Given the description of an element on the screen output the (x, y) to click on. 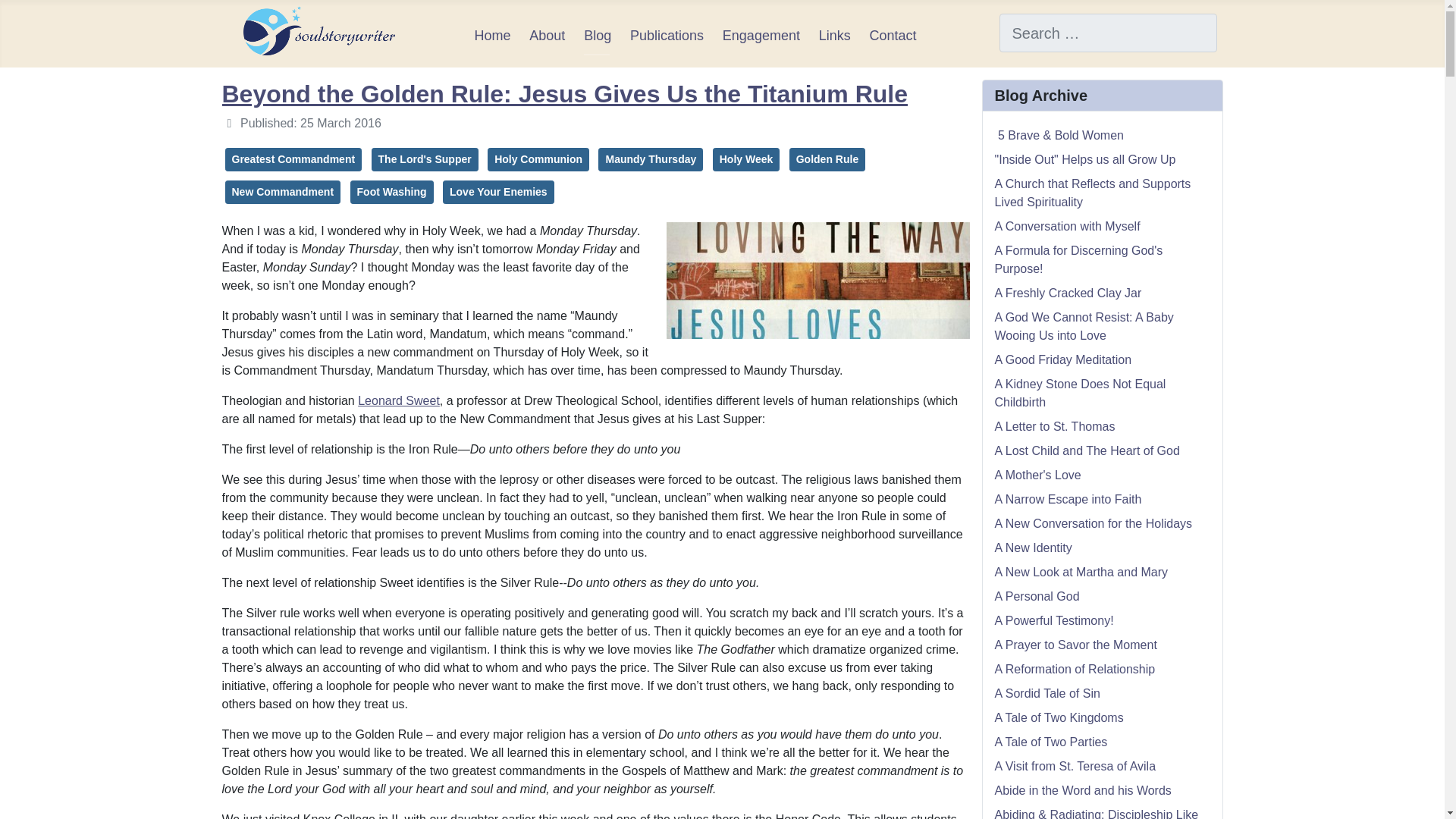
About (546, 35)
Maundy Thursday (650, 159)
Leonard Sweet (398, 400)
Holy Week (746, 159)
New Commandment (282, 191)
Links (834, 35)
Foot Washing (391, 191)
Contact (893, 35)
Holy Communion (538, 159)
The Lord's Supper (425, 159)
Home (492, 35)
Golden Rule (826, 159)
Greatest Commandment (292, 159)
Blog (597, 35)
Beyond the Golden Rule: Jesus Gives Us the Titanium Rule (564, 93)
